Given the description of an element on the screen output the (x, y) to click on. 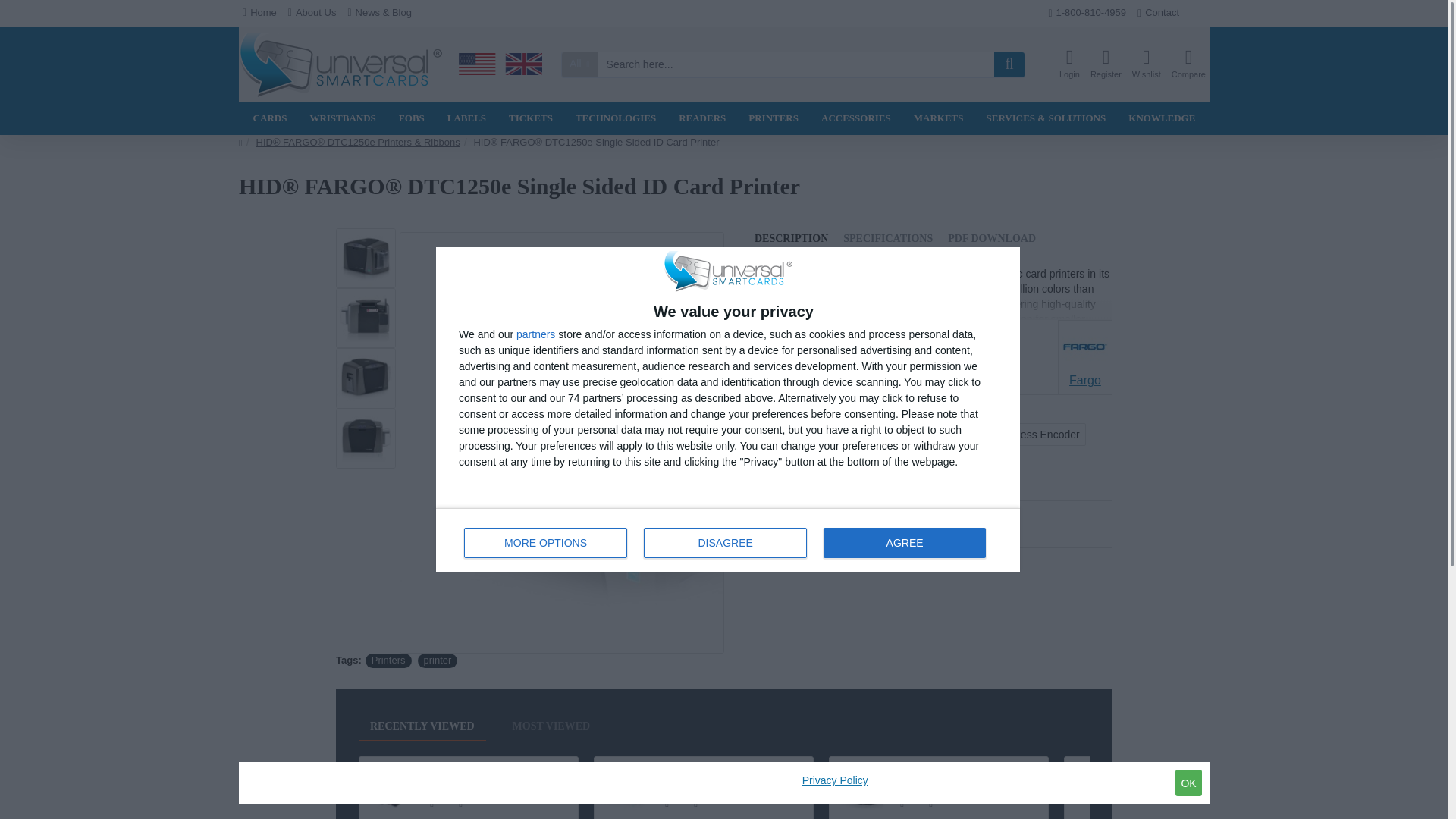
1-800-810-4959 (1086, 13)
Register (1105, 64)
Wishlist (1146, 64)
Home (259, 13)
CARDS (269, 118)
DISAGREE (724, 542)
About Us (311, 13)
partners (535, 334)
AGREE (904, 542)
MORE OPTIONS (545, 542)
Contact (727, 539)
Compare (1158, 13)
Universal Smart Cards Inc (1188, 64)
